Given the description of an element on the screen output the (x, y) to click on. 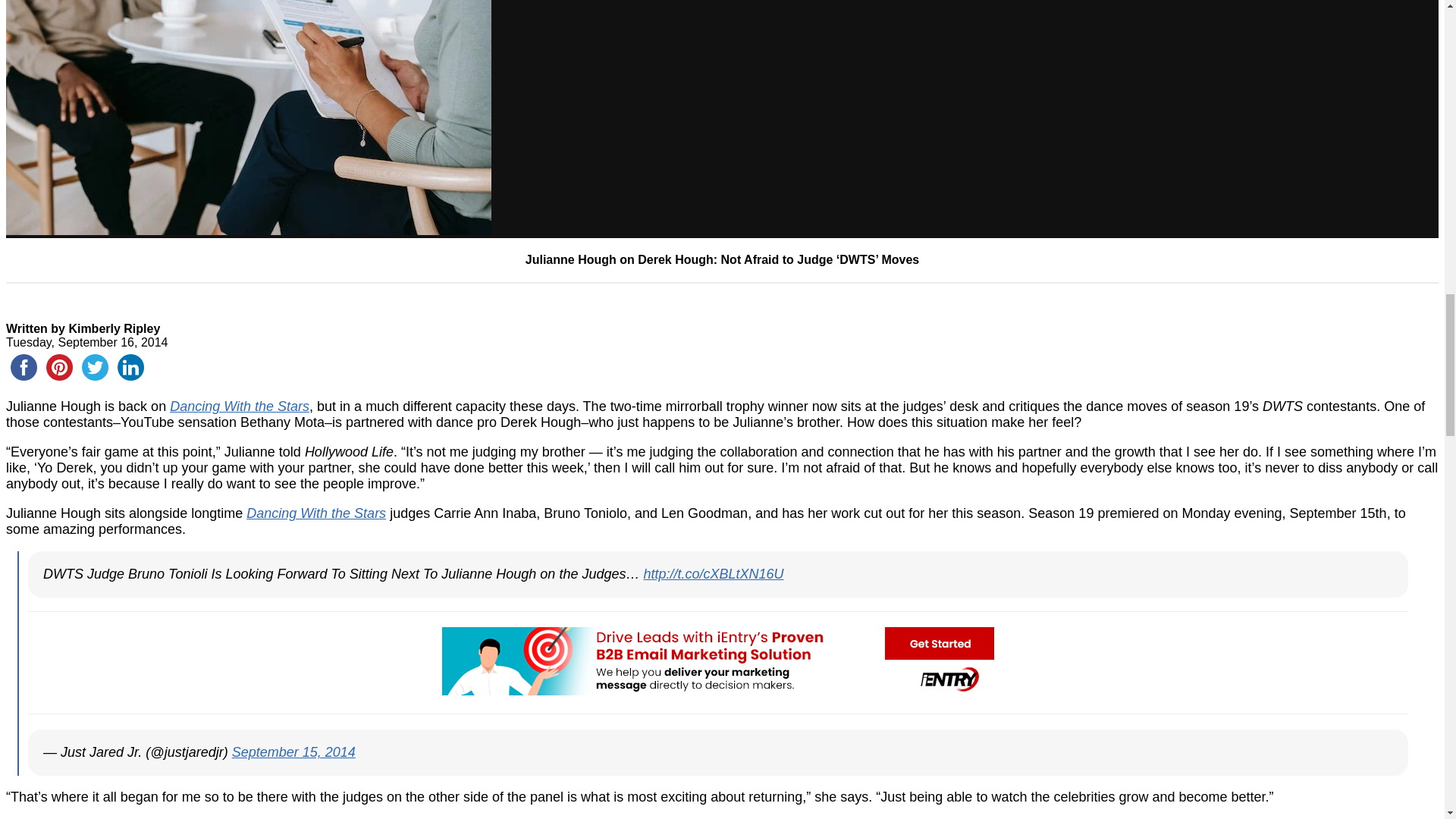
twitter (95, 366)
facebook (23, 366)
Dancing With the Stars (315, 513)
linkedin (130, 366)
Dancing With the Stars (239, 406)
pinterest (59, 366)
